Given the description of an element on the screen output the (x, y) to click on. 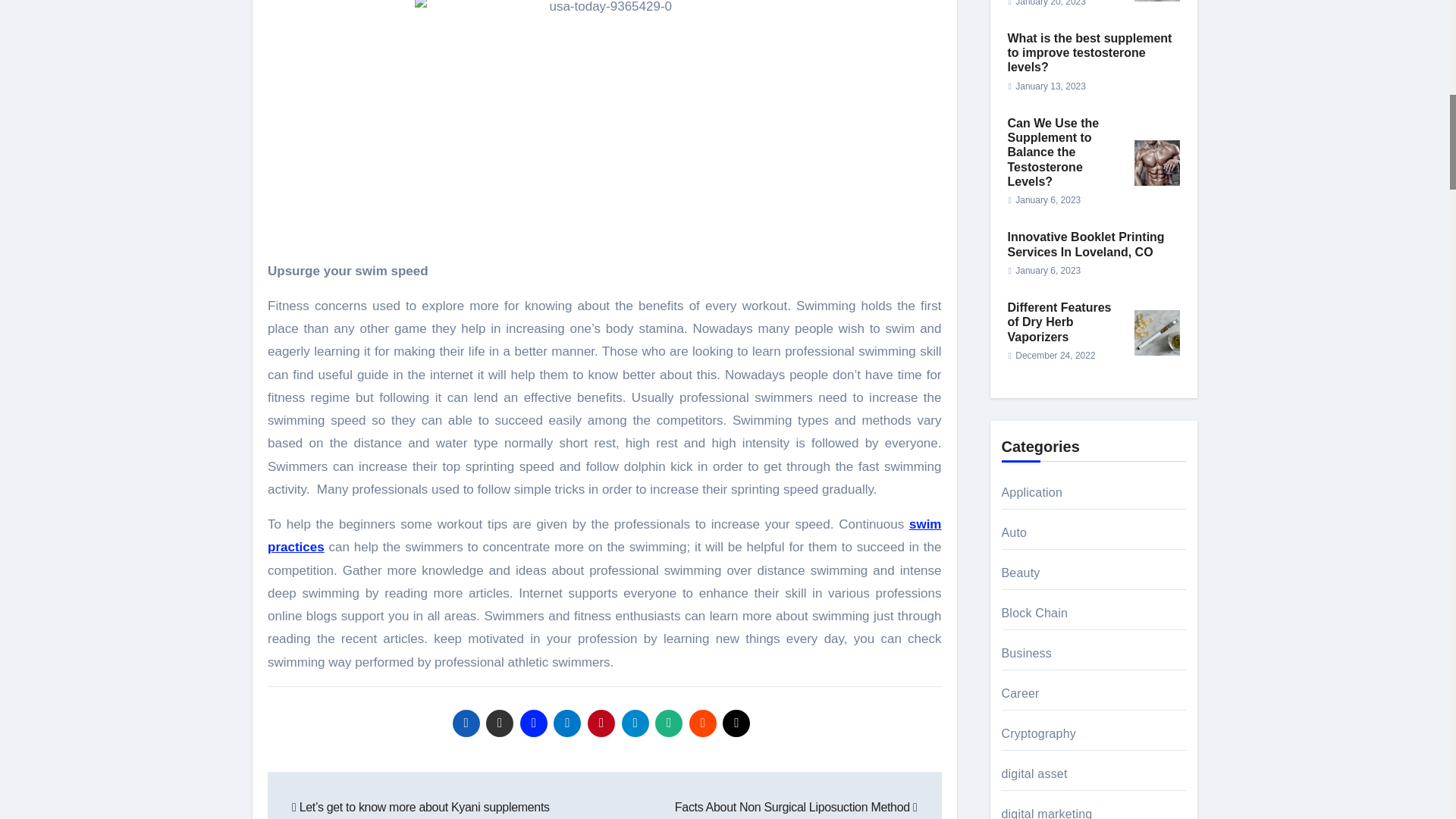
Facts About Non Surgical Liposuction Method (796, 807)
swim practices (604, 535)
